Given the description of an element on the screen output the (x, y) to click on. 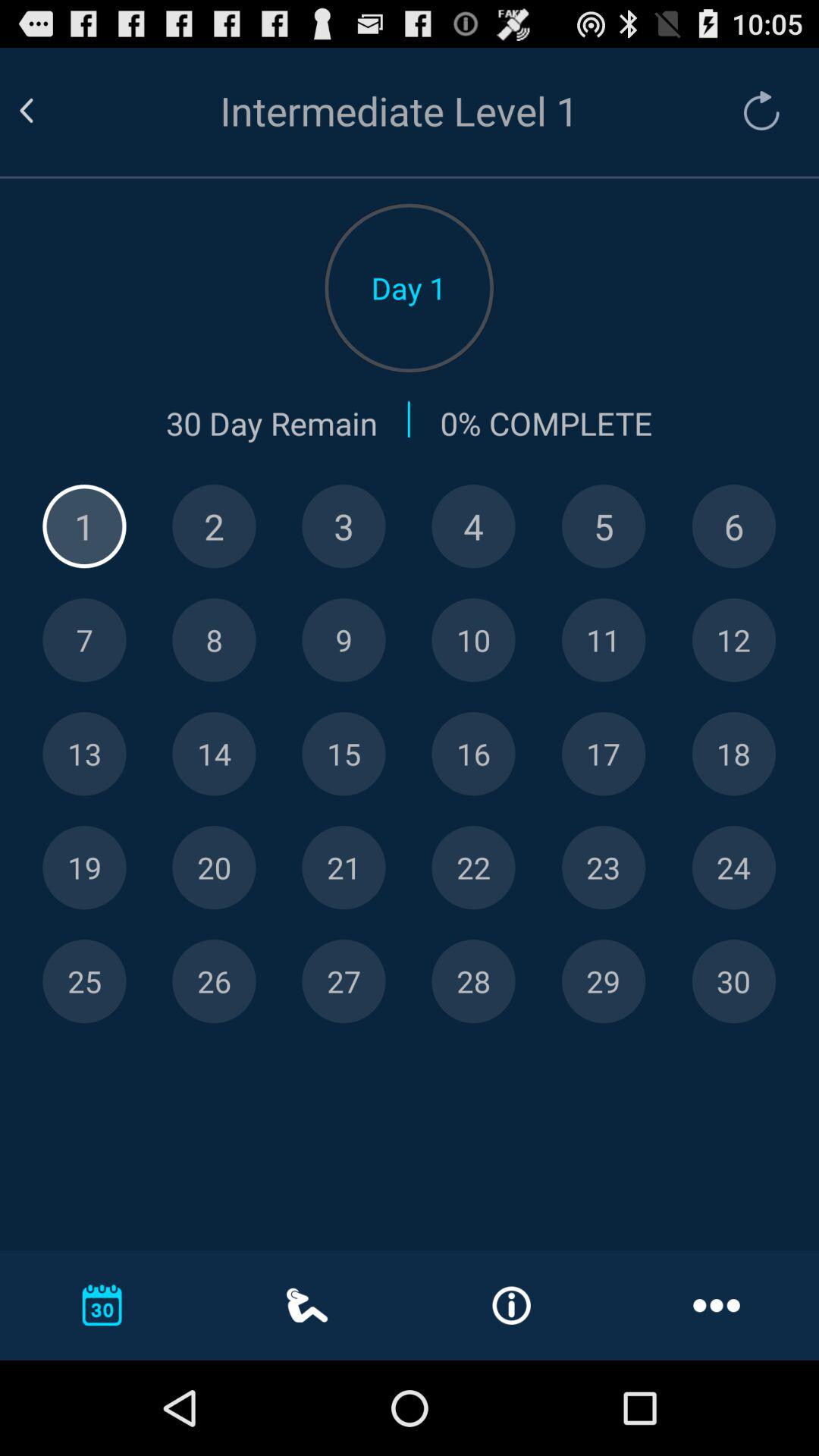
five (603, 526)
